Given the description of an element on the screen output the (x, y) to click on. 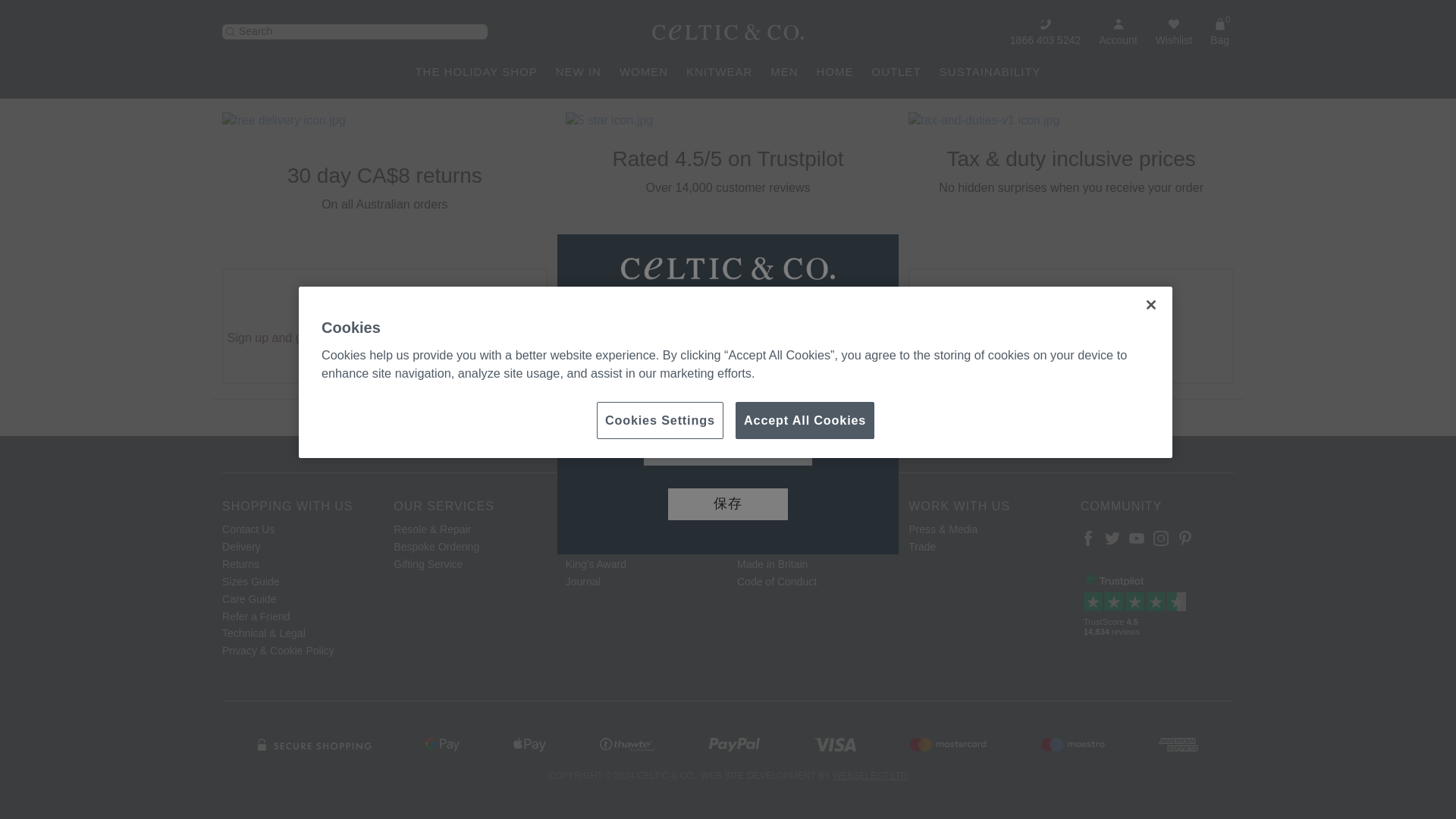
Facebook (1088, 538)
Instagram (1161, 538)
Twitter (1112, 538)
Pinterest (1184, 538)
YouTube (1136, 538)
